Given the description of an element on the screen output the (x, y) to click on. 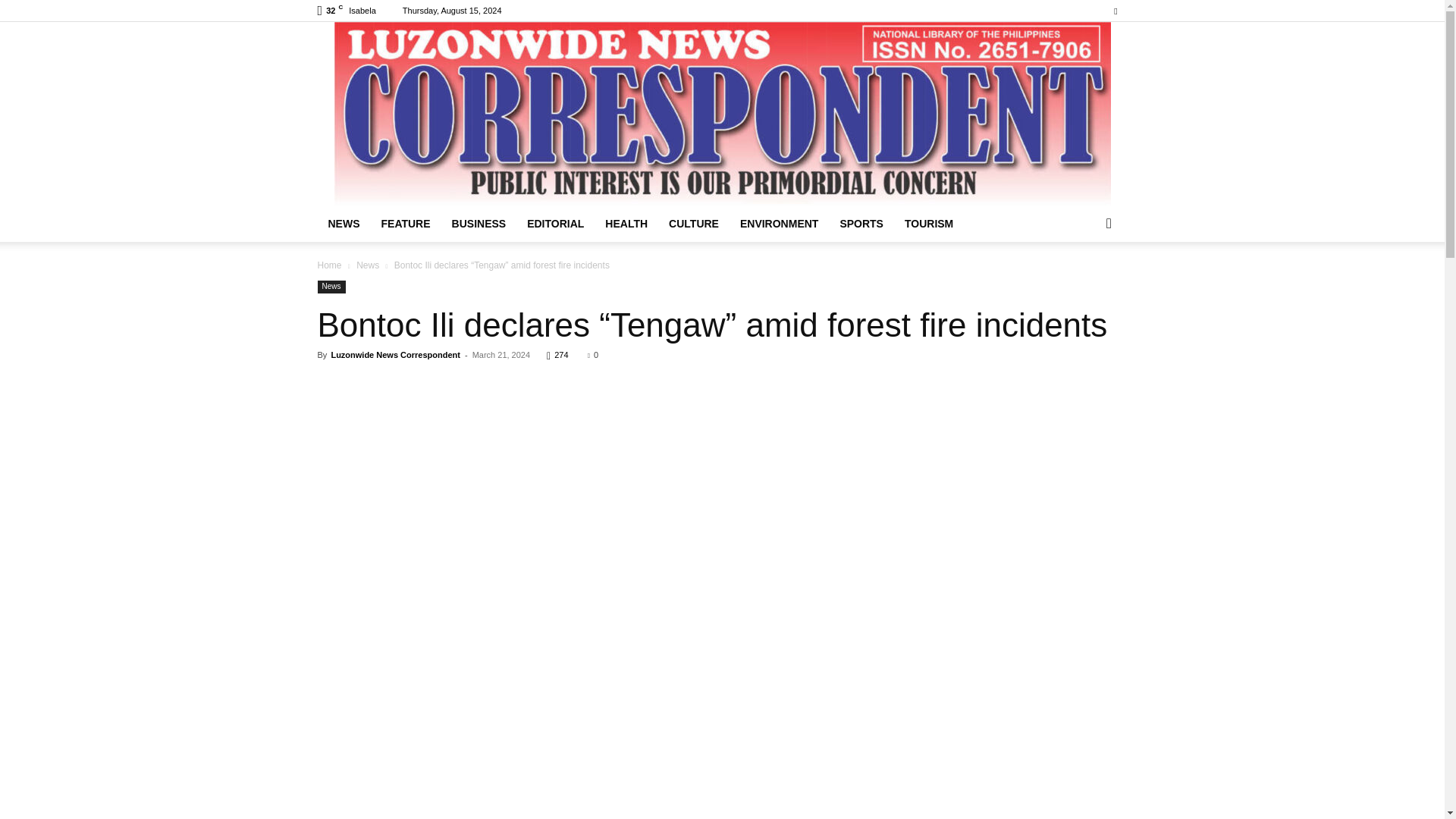
Luzonwide News Correspondent (395, 354)
topFacebookLike (430, 382)
News (367, 265)
View all posts in News (367, 265)
Facebook (1114, 10)
CULTURE (693, 223)
Search (1085, 283)
0 (593, 354)
ENVIRONMENT (778, 223)
SPORTS (860, 223)
